Given the description of an element on the screen output the (x, y) to click on. 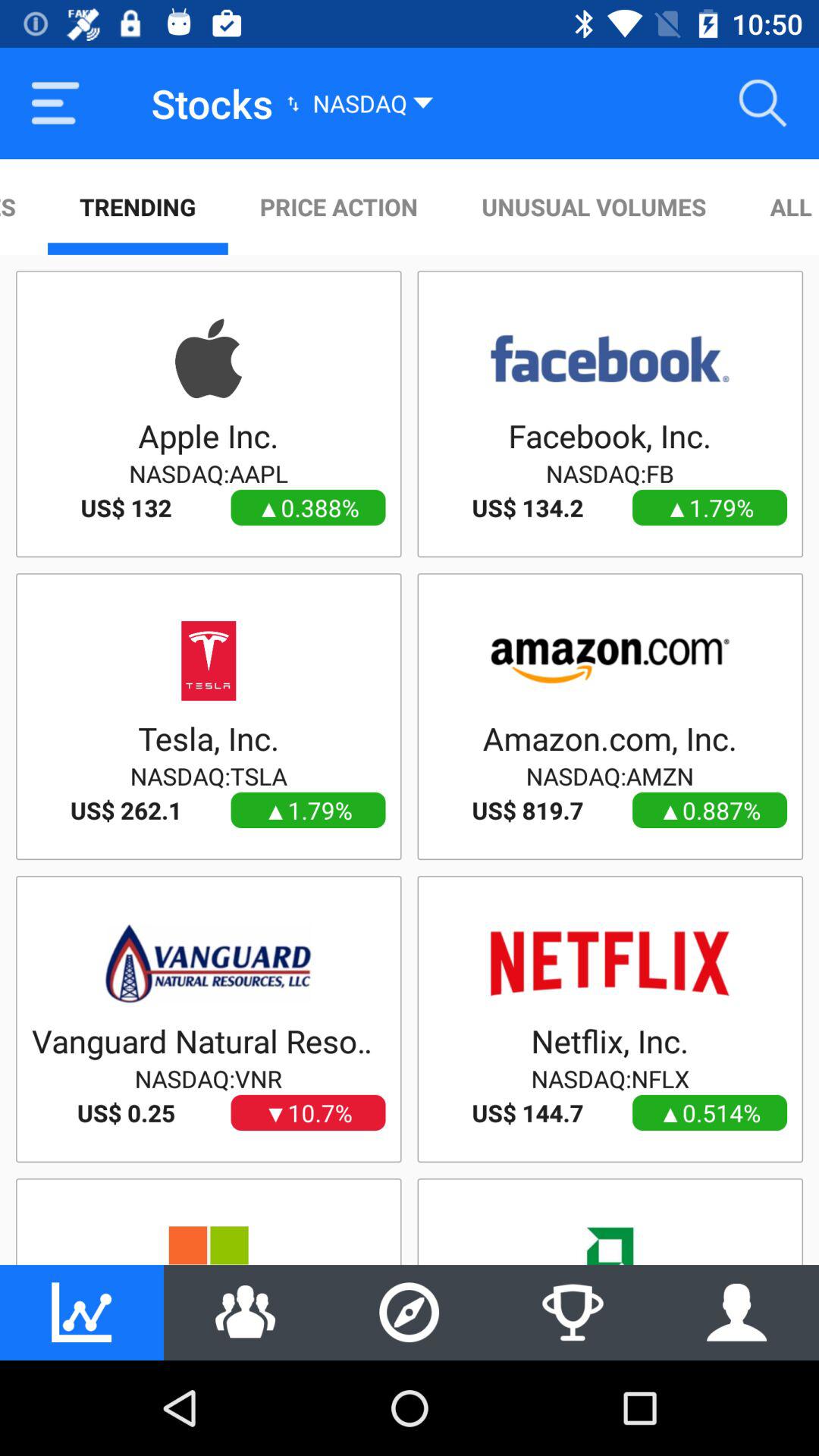
choose item next to nasdaq icon (763, 103)
